Given the description of an element on the screen output the (x, y) to click on. 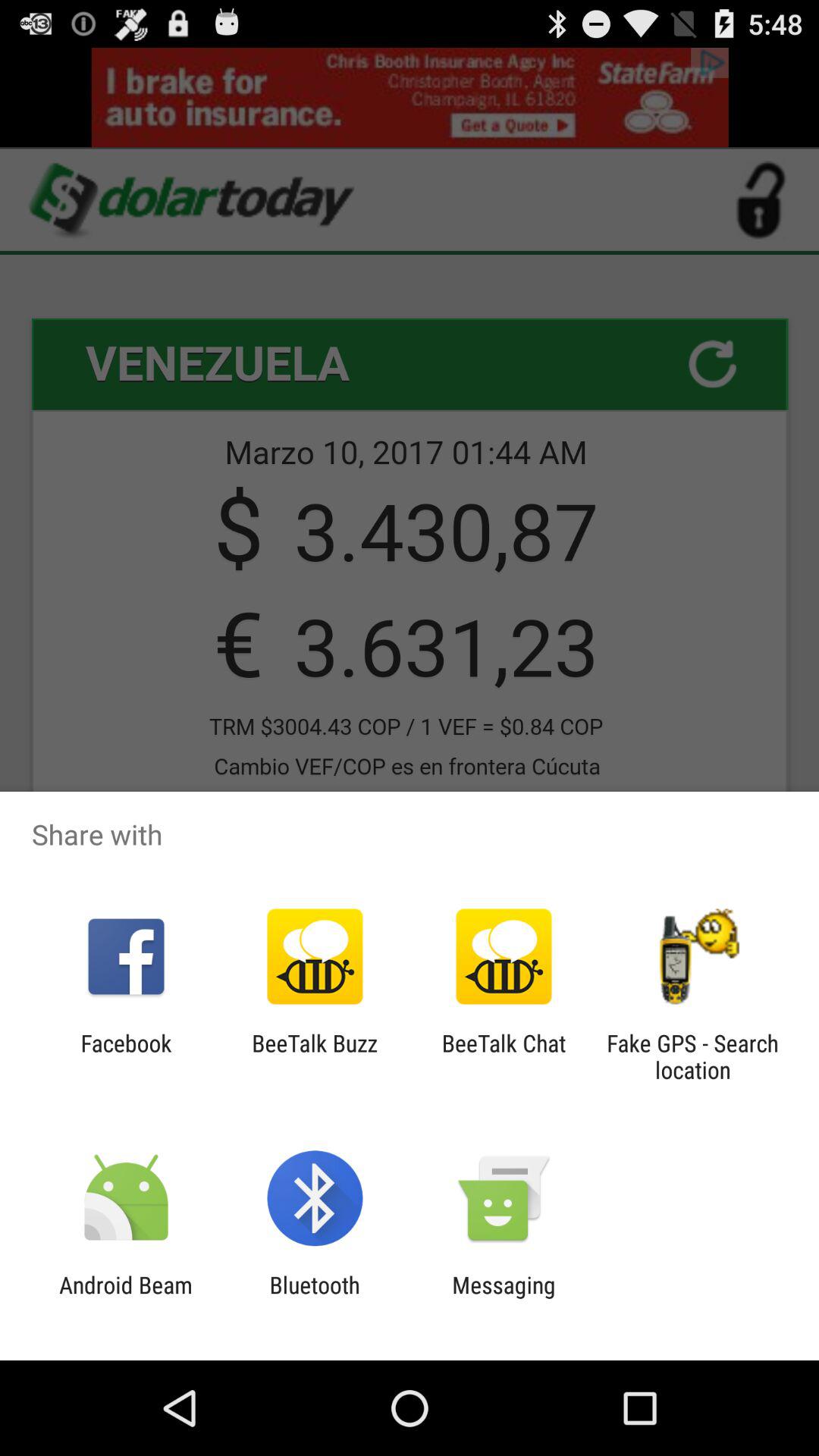
tap item to the right of the android beam item (314, 1298)
